Given the description of an element on the screen output the (x, y) to click on. 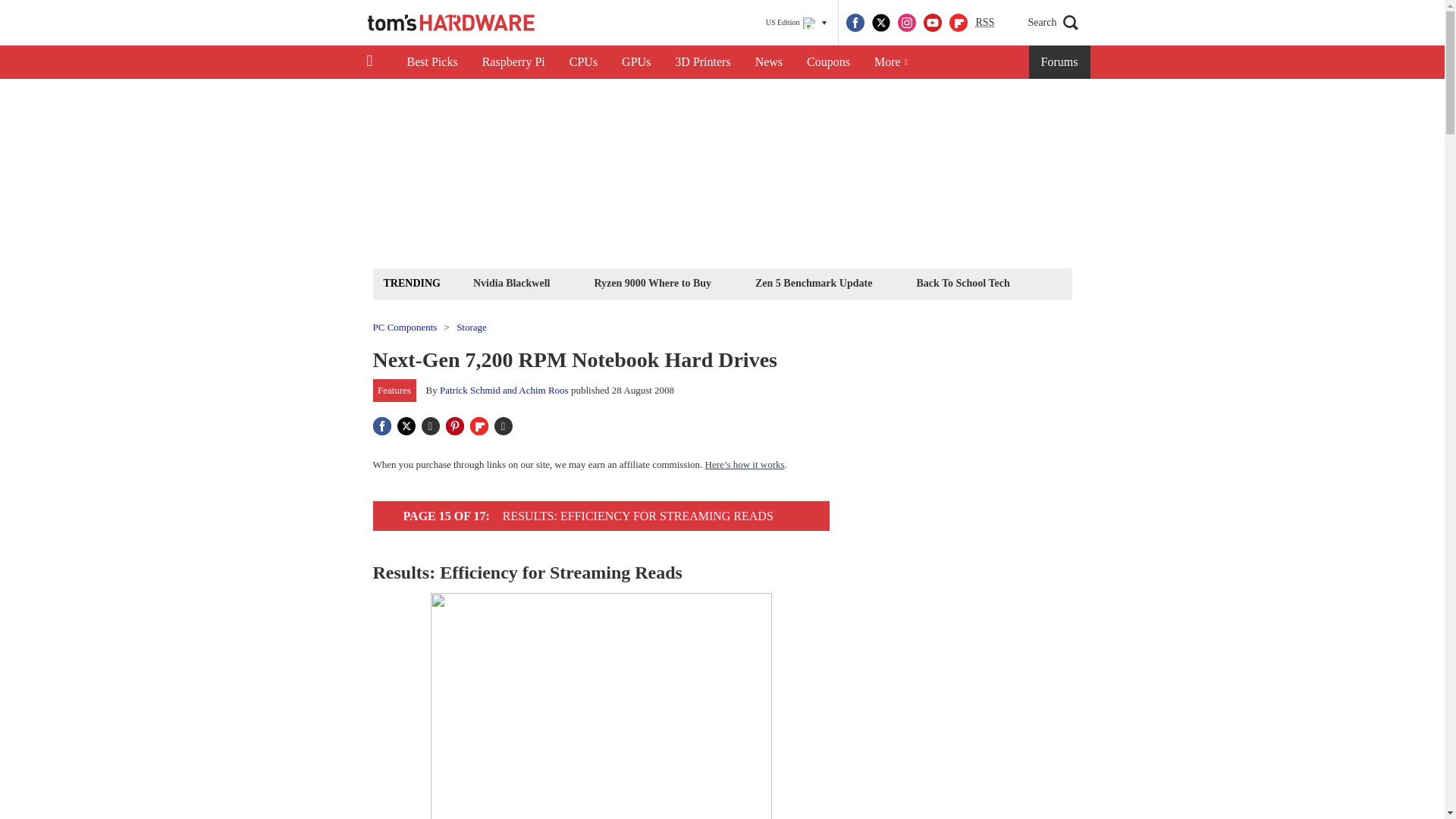
Best Picks (431, 61)
Raspberry Pi (513, 61)
GPUs (636, 61)
Forums (1059, 61)
RSS (984, 22)
News (768, 61)
US Edition (796, 22)
Really Simple Syndication (984, 21)
3D Printers (702, 61)
CPUs (583, 61)
